Given the description of an element on the screen output the (x, y) to click on. 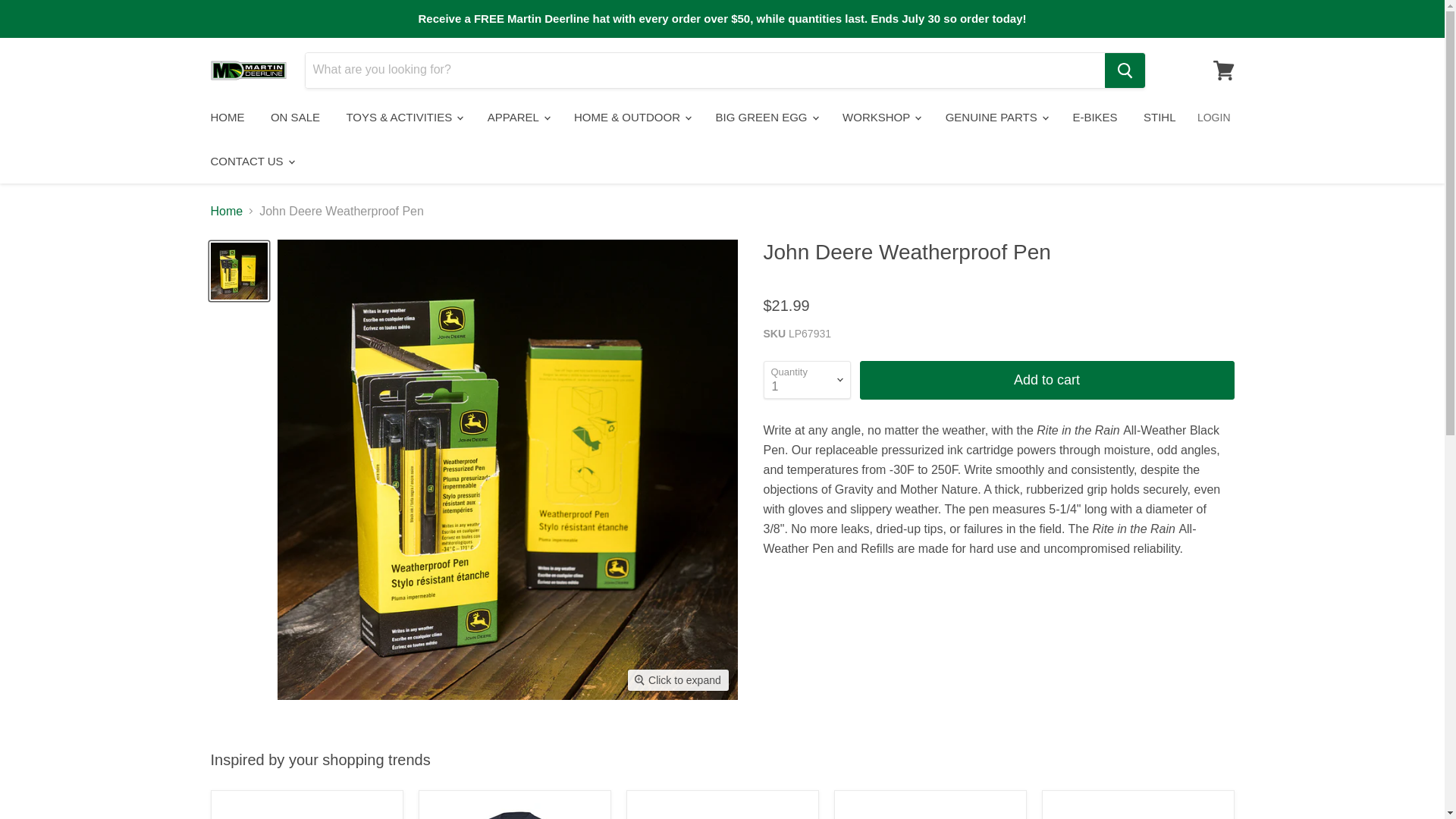
View cart (1223, 70)
ON SALE (295, 117)
APPAREL (517, 117)
HOME (227, 117)
